Given the description of an element on the screen output the (x, y) to click on. 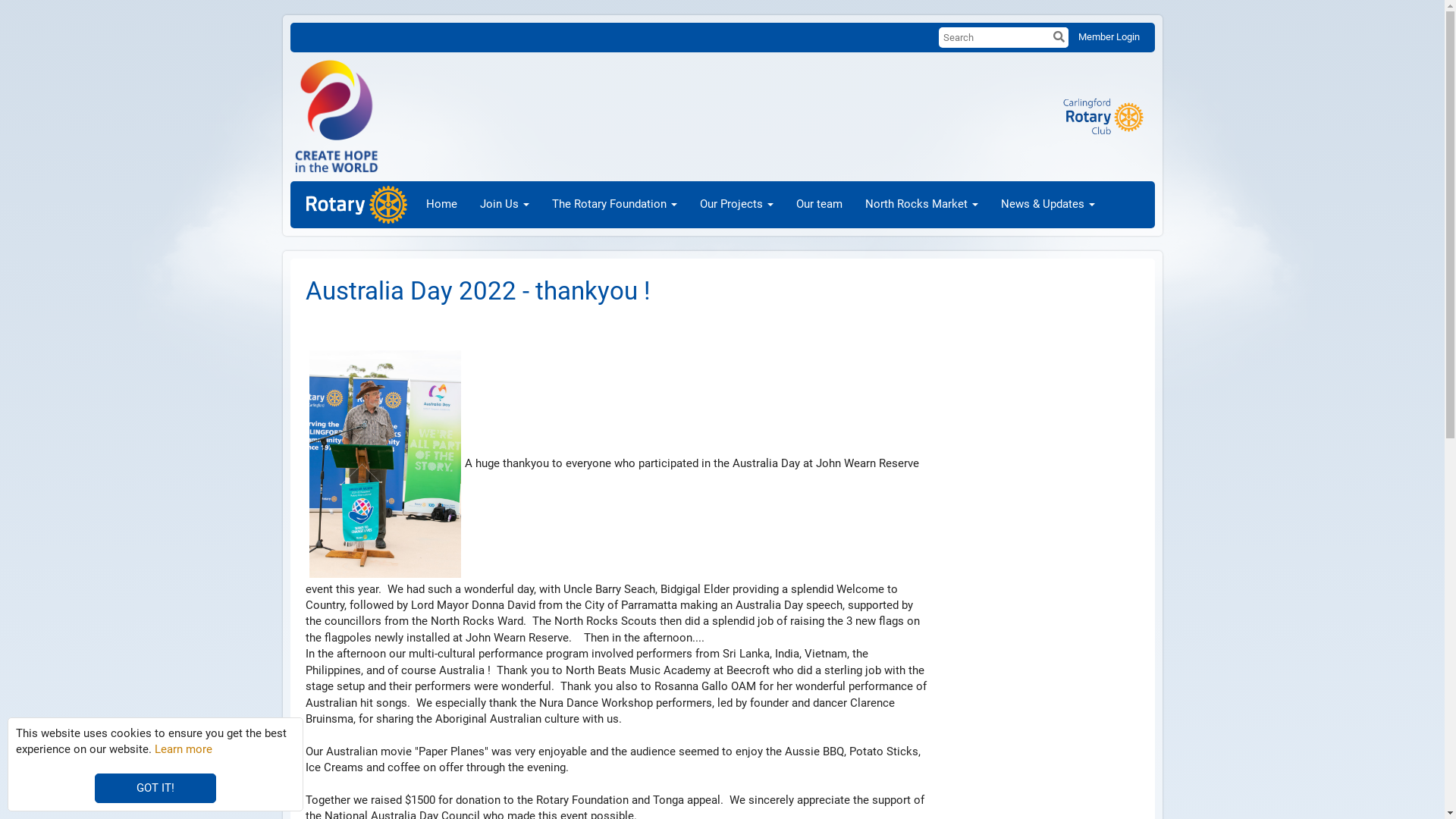
GOT IT! Element type: text (155, 788)
Member Login Element type: text (1108, 36)
Join Us Element type: text (504, 204)
The Rotary Foundation Element type: text (614, 204)
North Rocks Market Element type: text (921, 204)
Our team Element type: text (818, 204)
Learn more Element type: text (183, 749)
Home Element type: text (441, 204)
News & Updates Element type: text (1047, 204)
Our Projects Element type: text (736, 204)
